Given the description of an element on the screen output the (x, y) to click on. 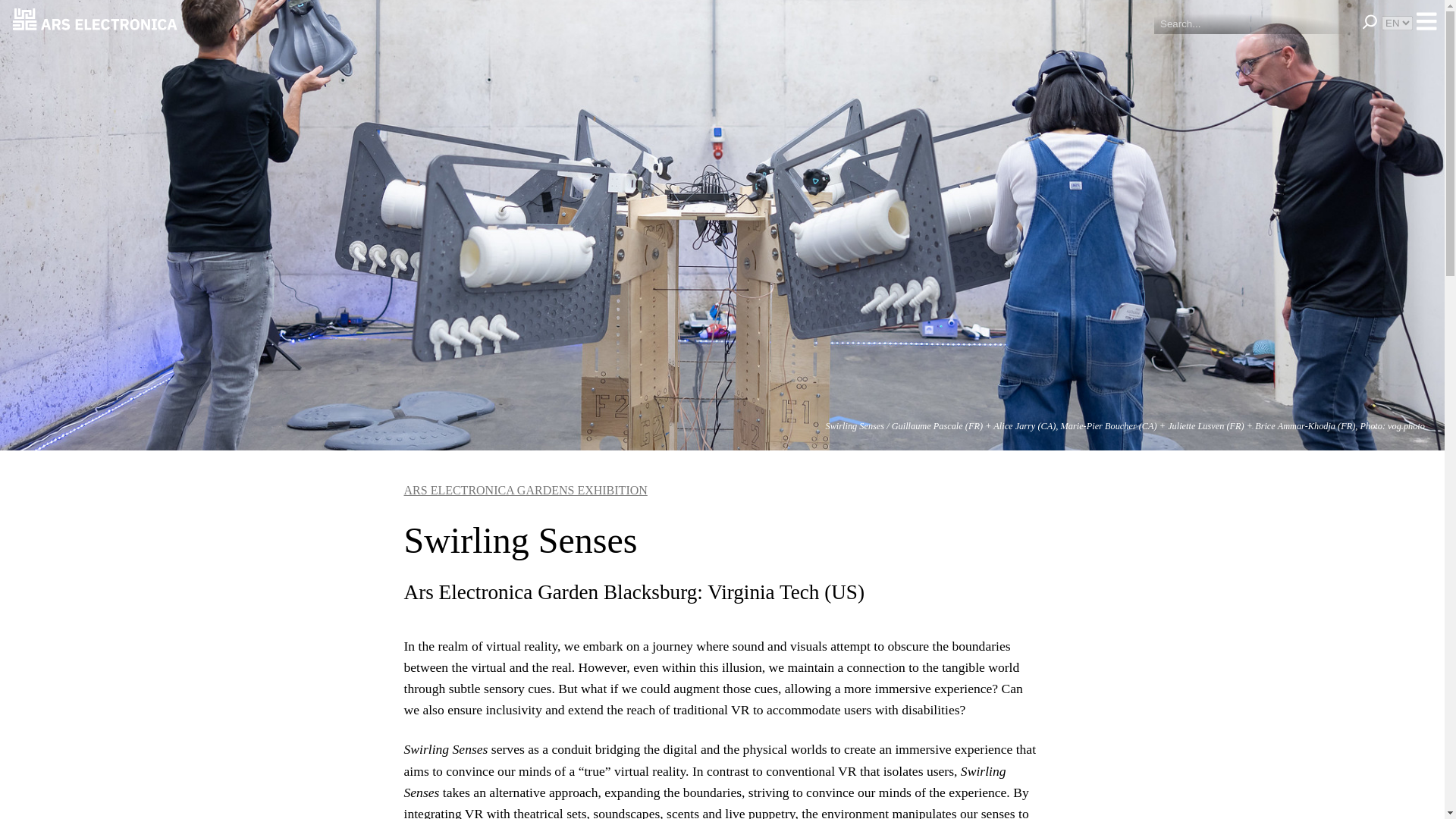
Ars Electronica (95, 21)
